Given the description of an element on the screen output the (x, y) to click on. 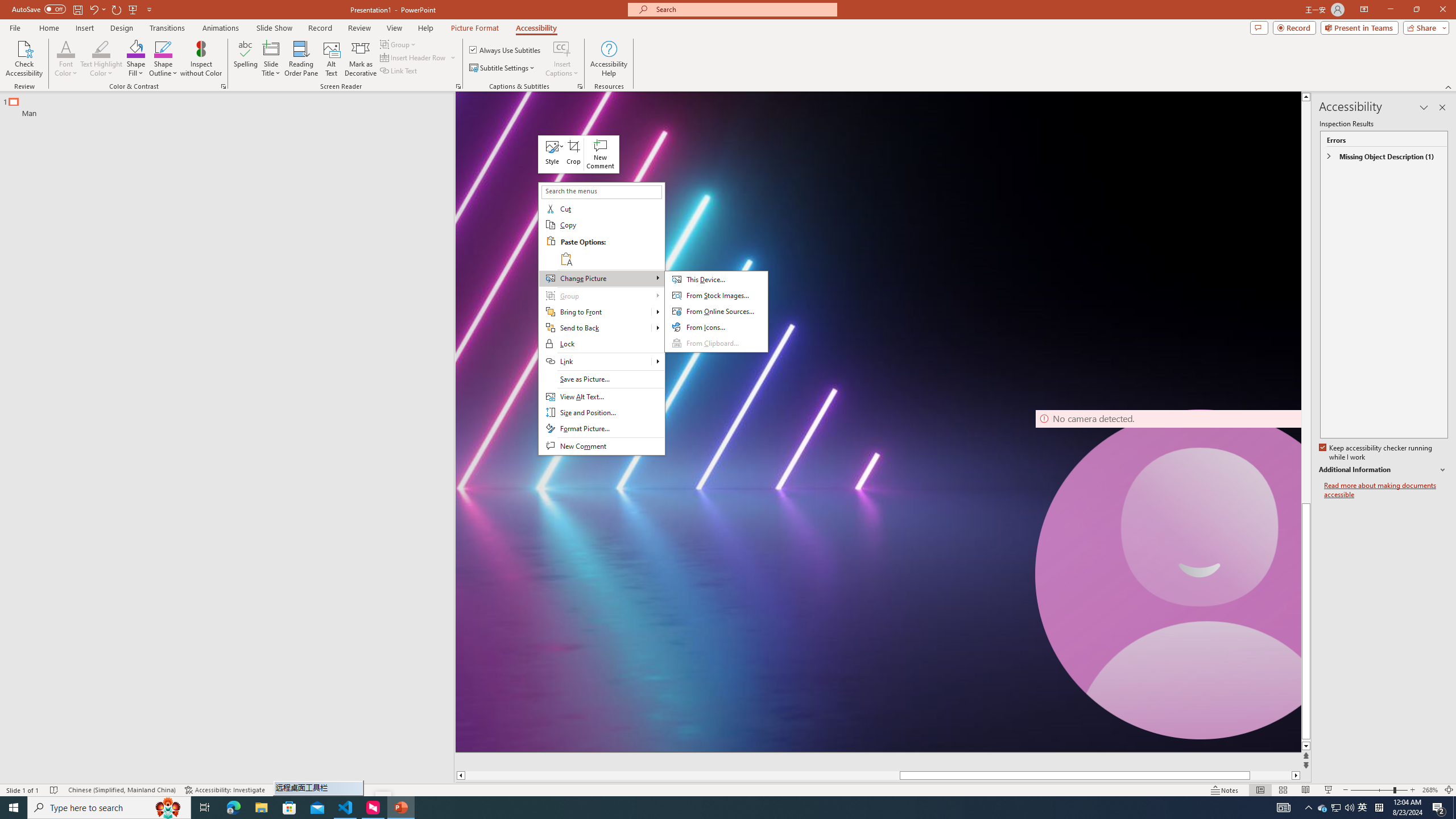
Subtitle Settings (502, 67)
Change Picture (600, 278)
Class: NetUIAnchor (552, 154)
Style (552, 154)
